Given the description of an element on the screen output the (x, y) to click on. 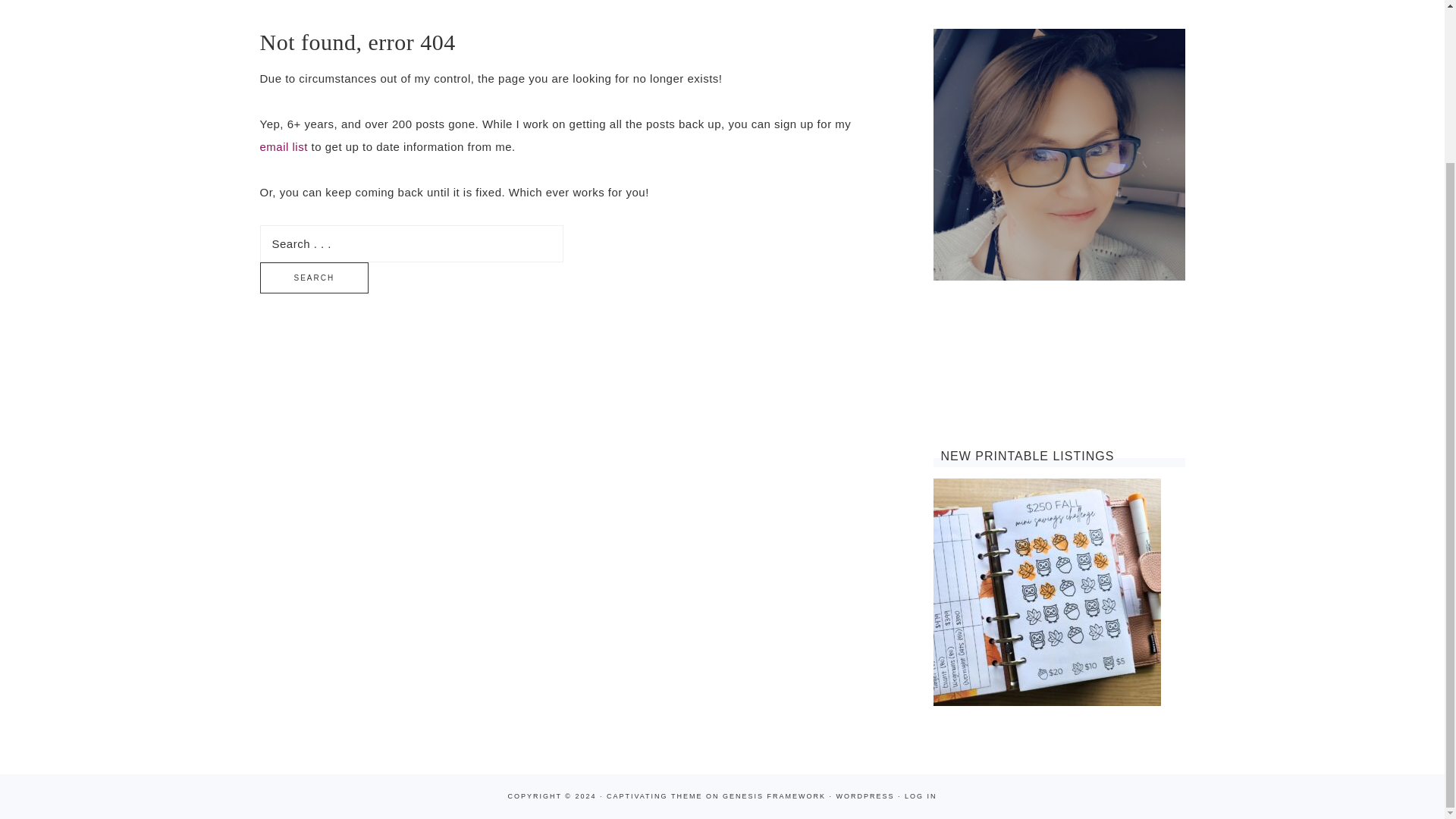
Search (313, 277)
LOG IN (920, 796)
GENESIS FRAMEWORK (773, 796)
email list (283, 146)
WORDPRESS (864, 796)
Search (313, 277)
Search (313, 277)
CAPTIVATING THEME (655, 796)
